Given the description of an element on the screen output the (x, y) to click on. 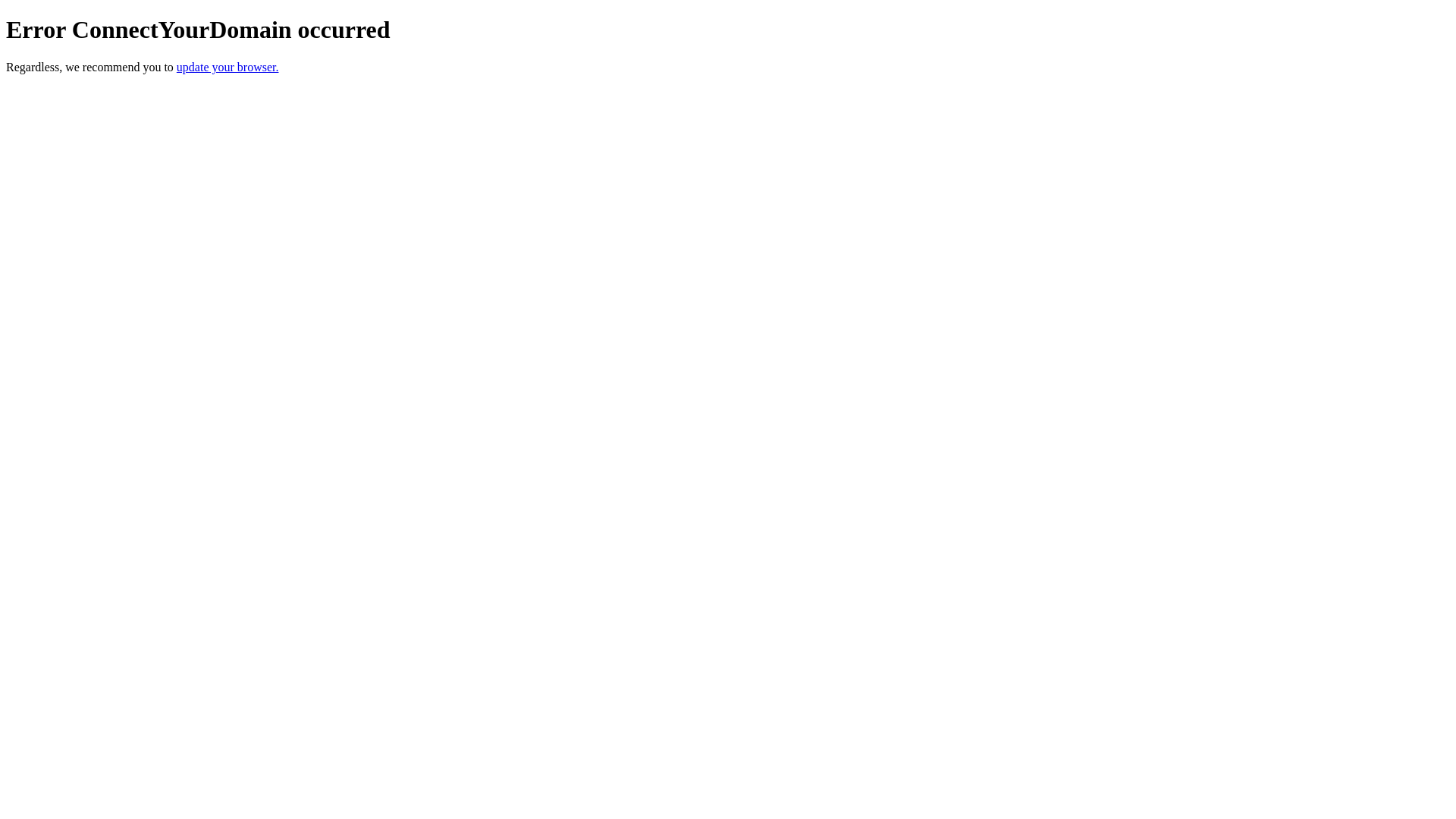
update your browser. Element type: text (227, 66)
